Given the description of an element on the screen output the (x, y) to click on. 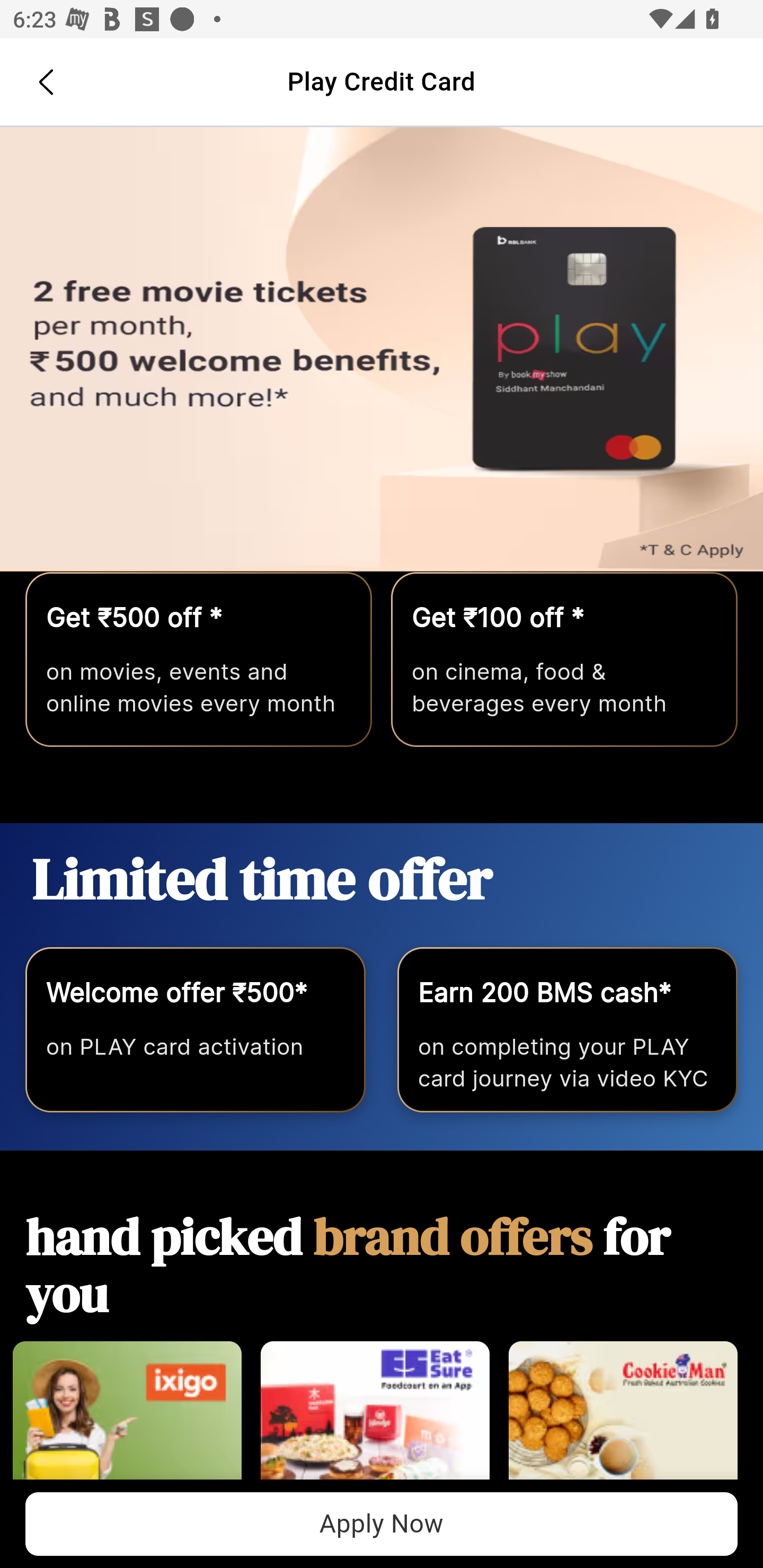
Apply Now (381, 349)
Ixigo (126, 1419)
EatSure (374, 1419)
Cookie Man (622, 1419)
Apply Now (381, 1523)
